Given the description of an element on the screen output the (x, y) to click on. 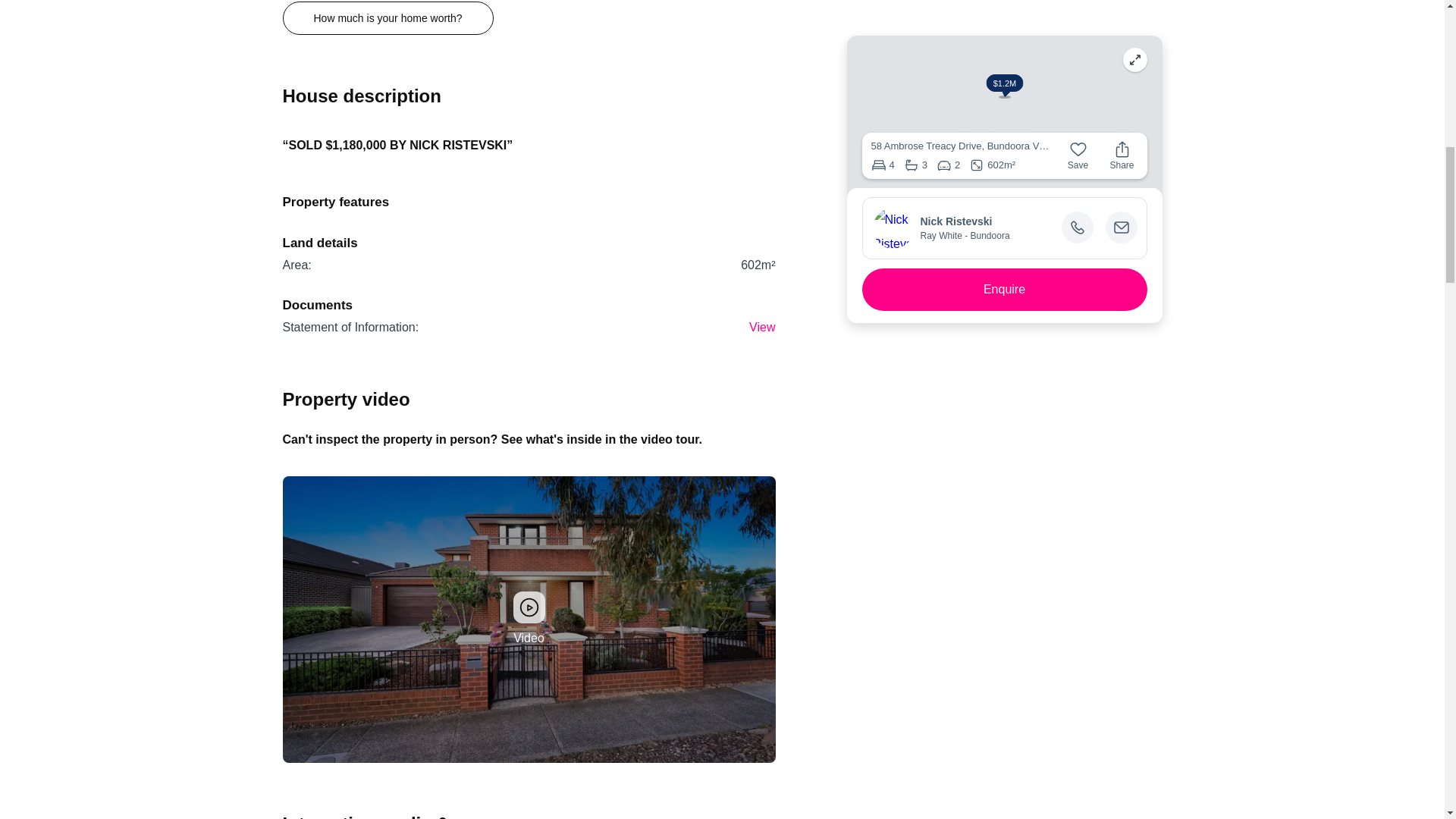
View (761, 327)
How much is your home worth? (387, 18)
